Given the description of an element on the screen output the (x, y) to click on. 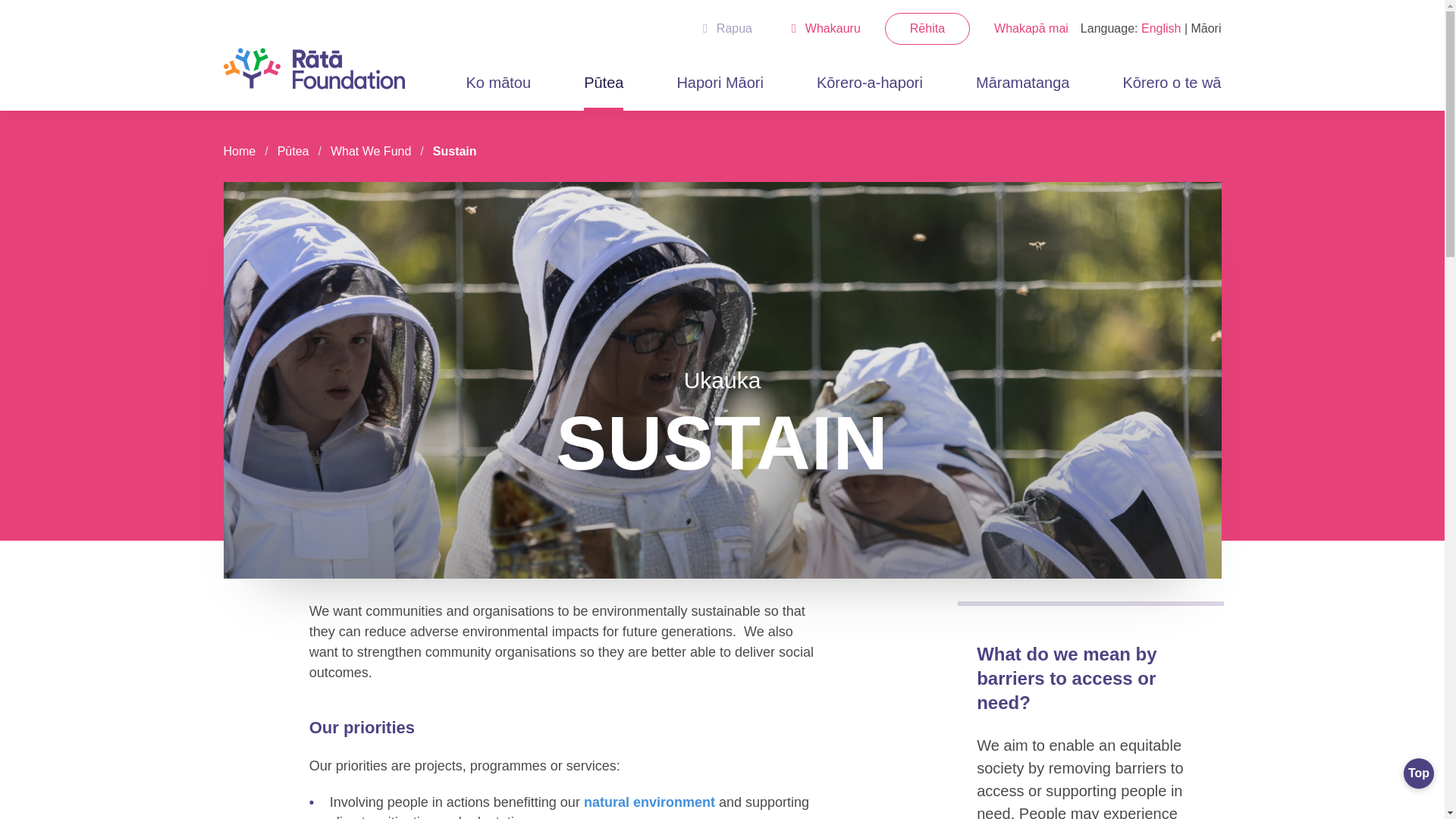
Rapua (727, 28)
Whakauru (826, 28)
English (1160, 28)
